Given the description of an element on the screen output the (x, y) to click on. 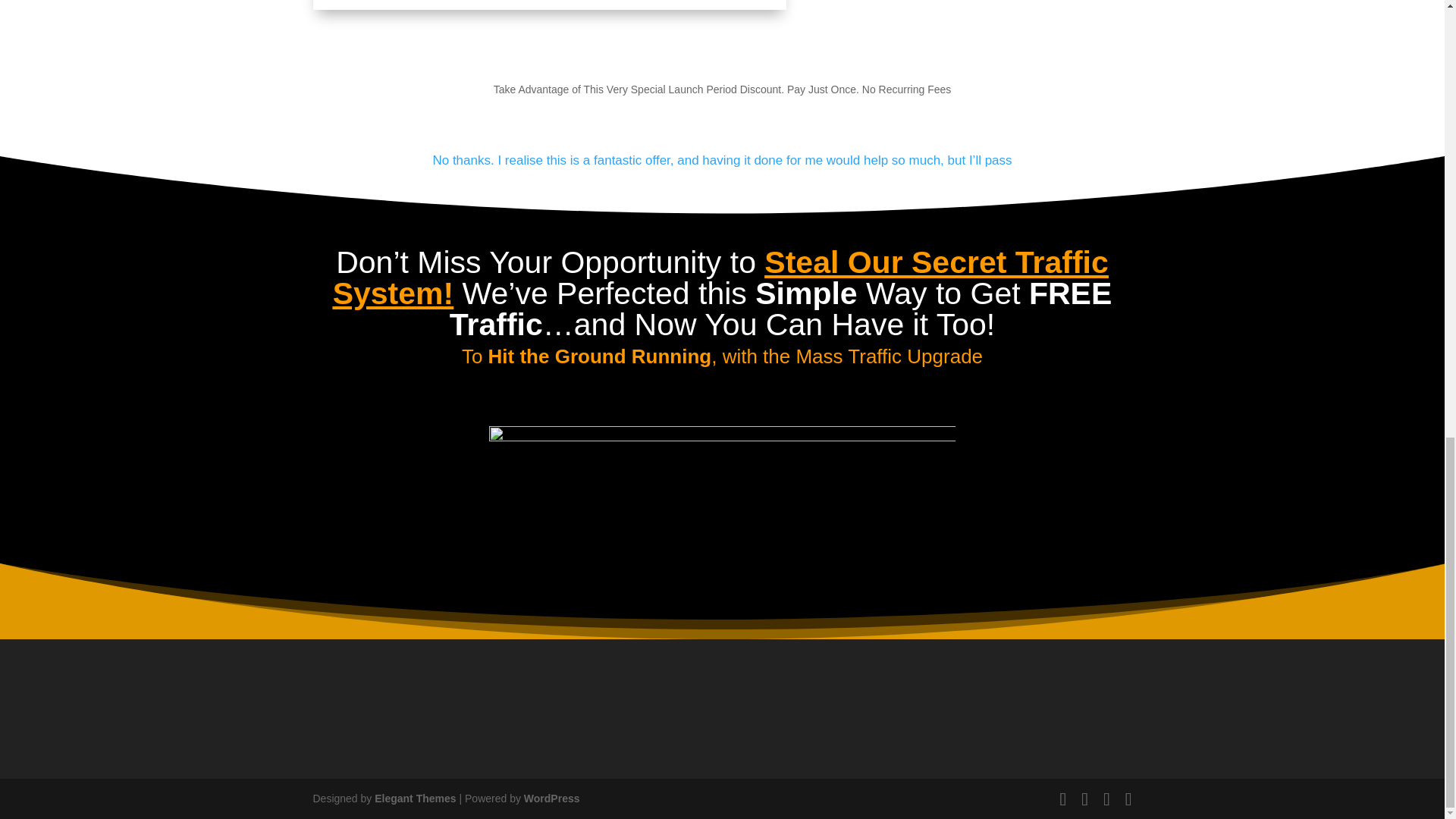
WordPress (551, 798)
Elegant Themes (414, 798)
Prodigy Mass Traffic (549, 4)
Premium WordPress Themes (414, 798)
